Given the description of an element on the screen output the (x, y) to click on. 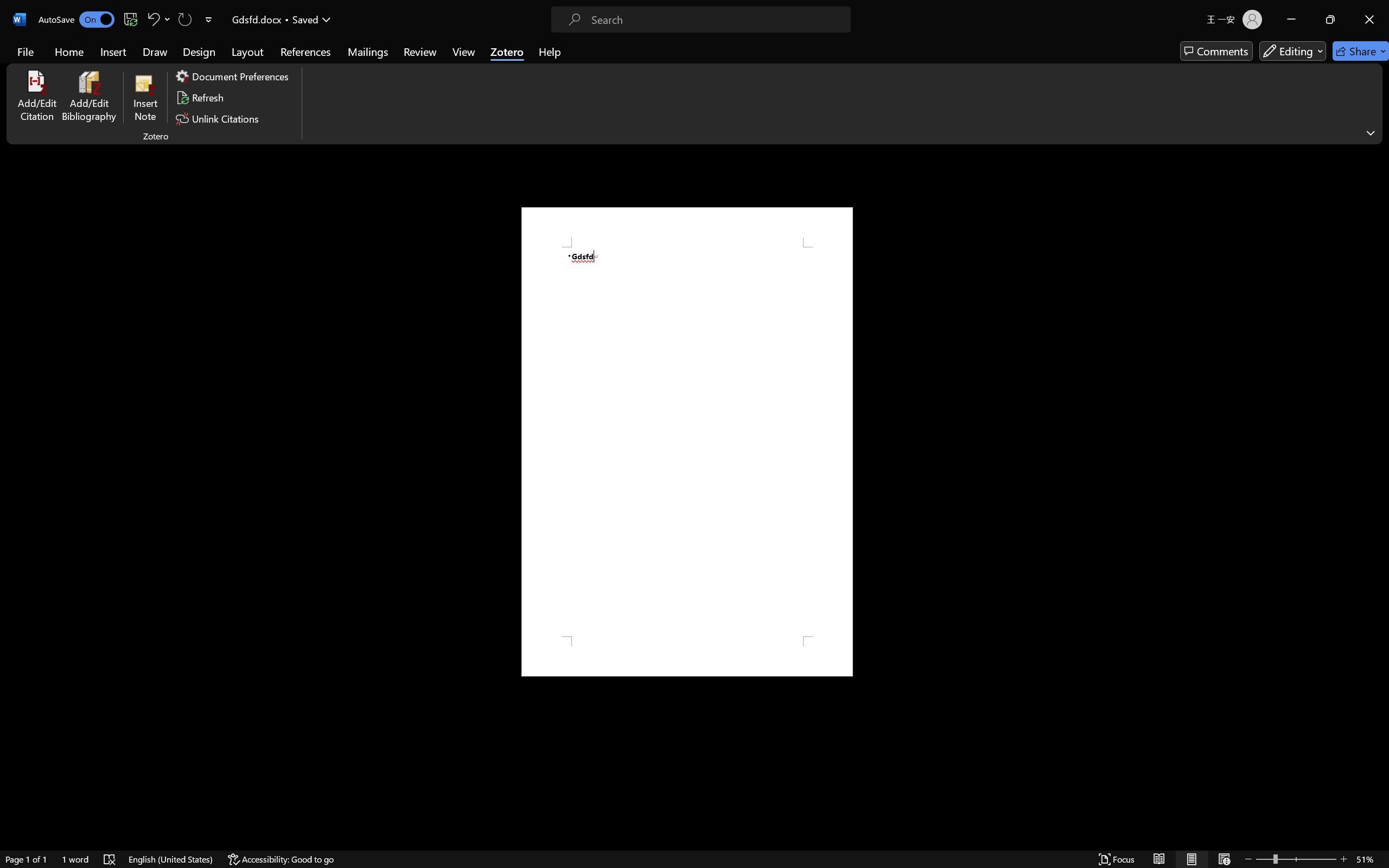
Page 1 content (686, 441)
